Given the description of an element on the screen output the (x, y) to click on. 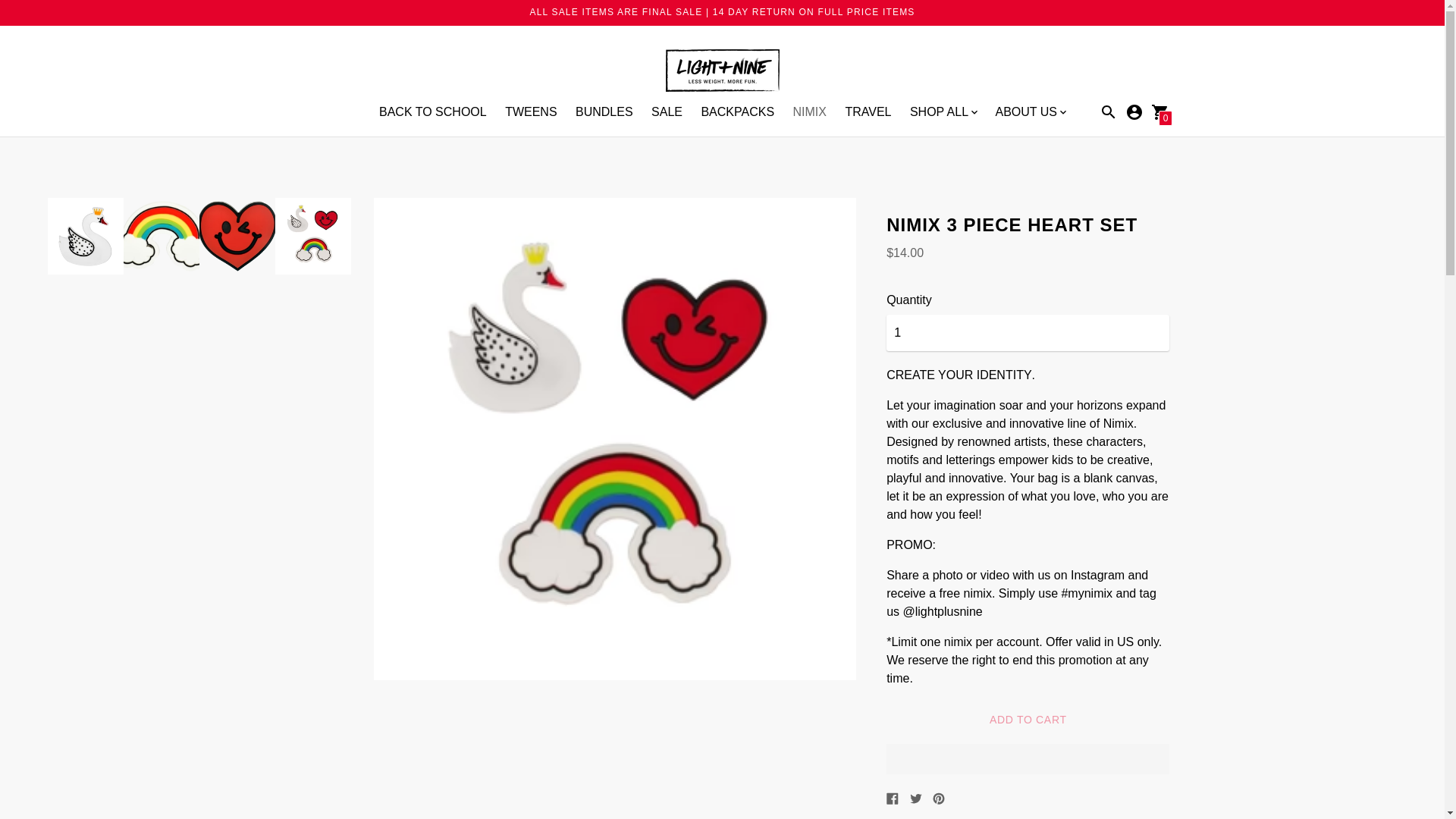
ABOUT US (1029, 112)
SALE (666, 111)
TWEENS (530, 111)
BUNDLES (604, 111)
1 (1027, 332)
BACK TO SCHOOL (432, 111)
NIMIX (810, 111)
SHOP ALL (943, 112)
BACKPACKS (737, 111)
TRAVEL (867, 111)
